Given the description of an element on the screen output the (x, y) to click on. 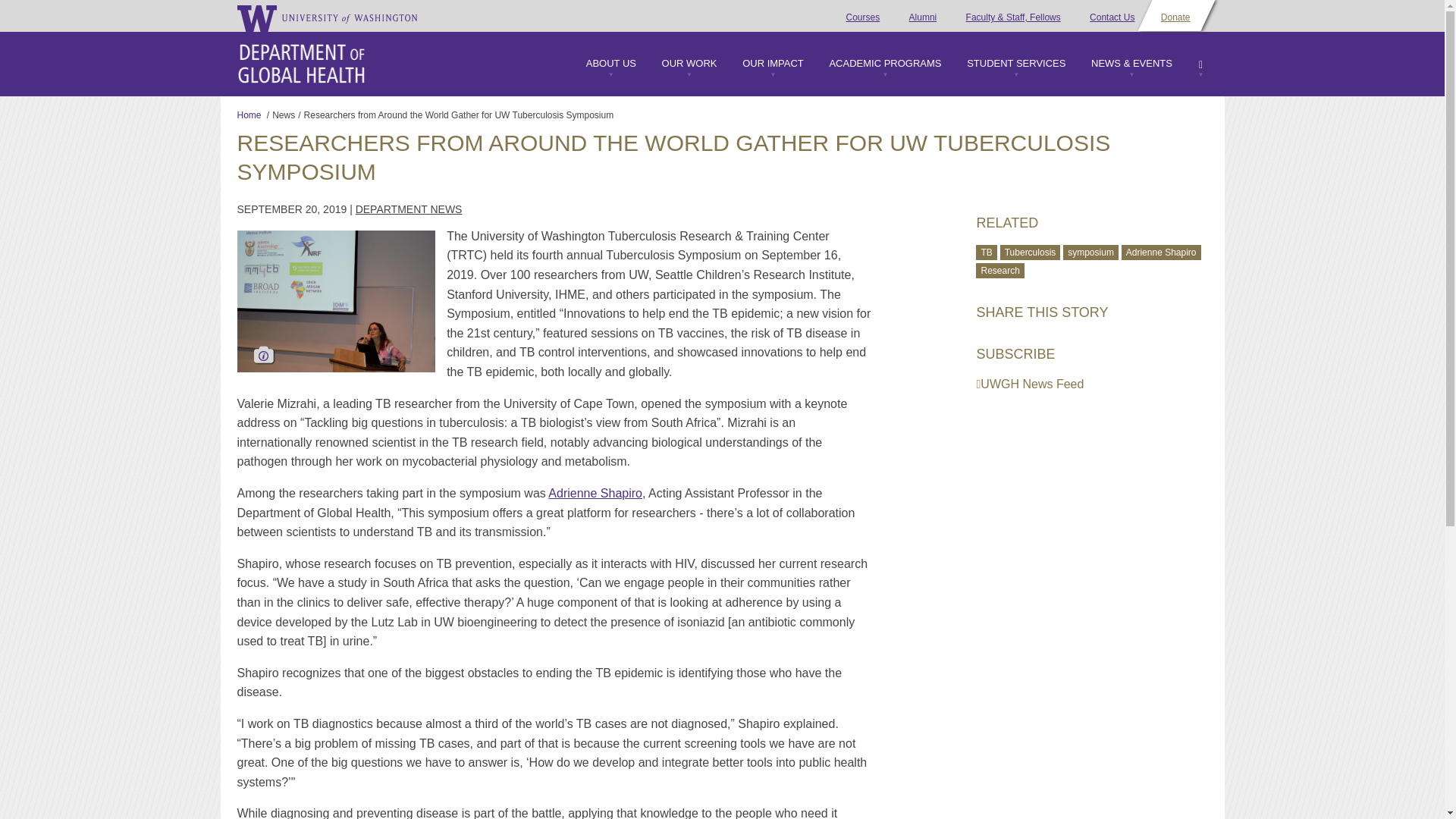
ABOUT US (611, 67)
Alumni (922, 17)
Contact Us (1112, 17)
Donate (1175, 17)
OUR WORK (689, 67)
OUR IMPACT (773, 67)
Courses (863, 17)
Home (300, 63)
